Given the description of an element on the screen output the (x, y) to click on. 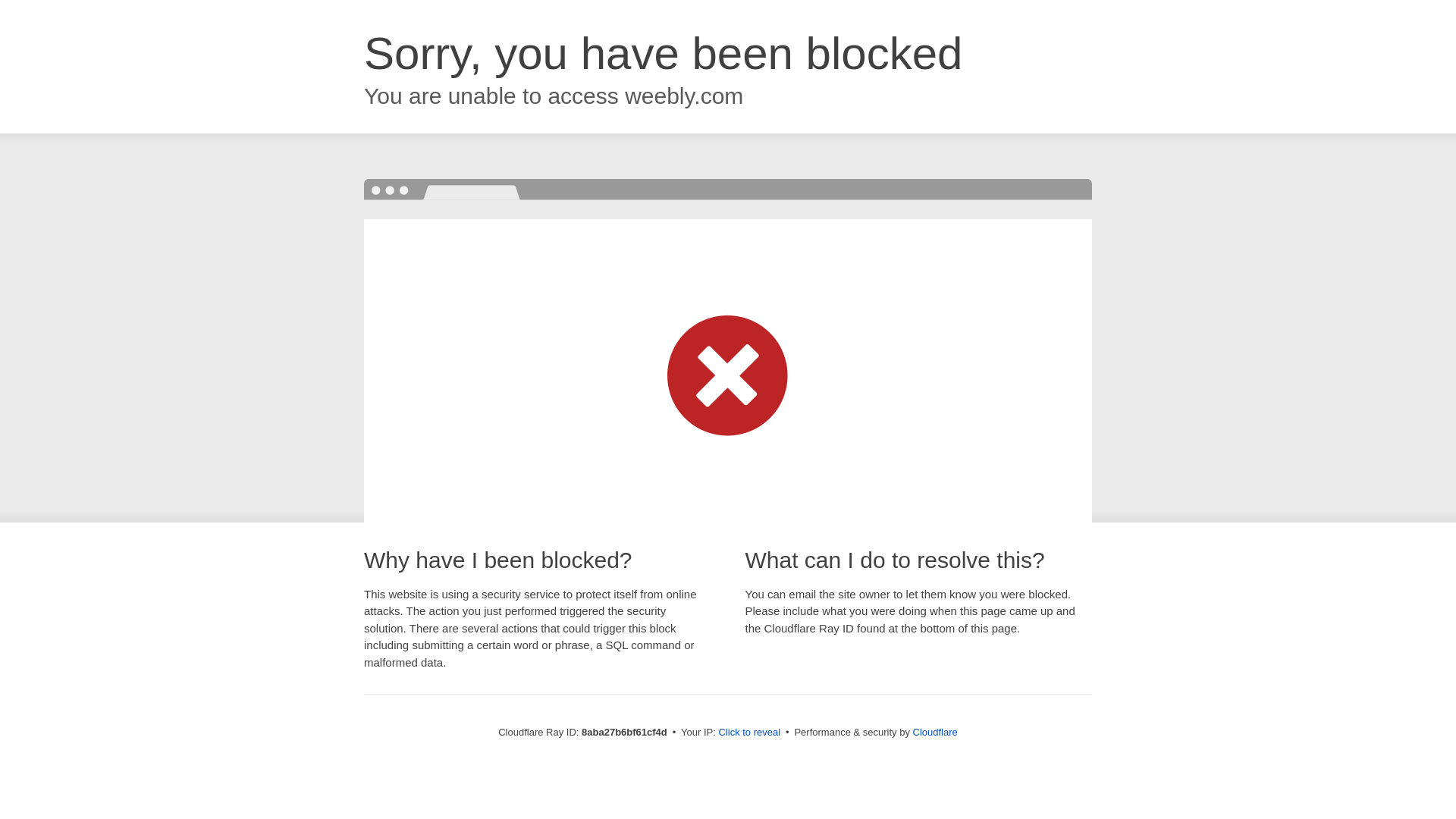
Cloudflare (935, 731)
Click to reveal (748, 732)
